Given the description of an element on the screen output the (x, y) to click on. 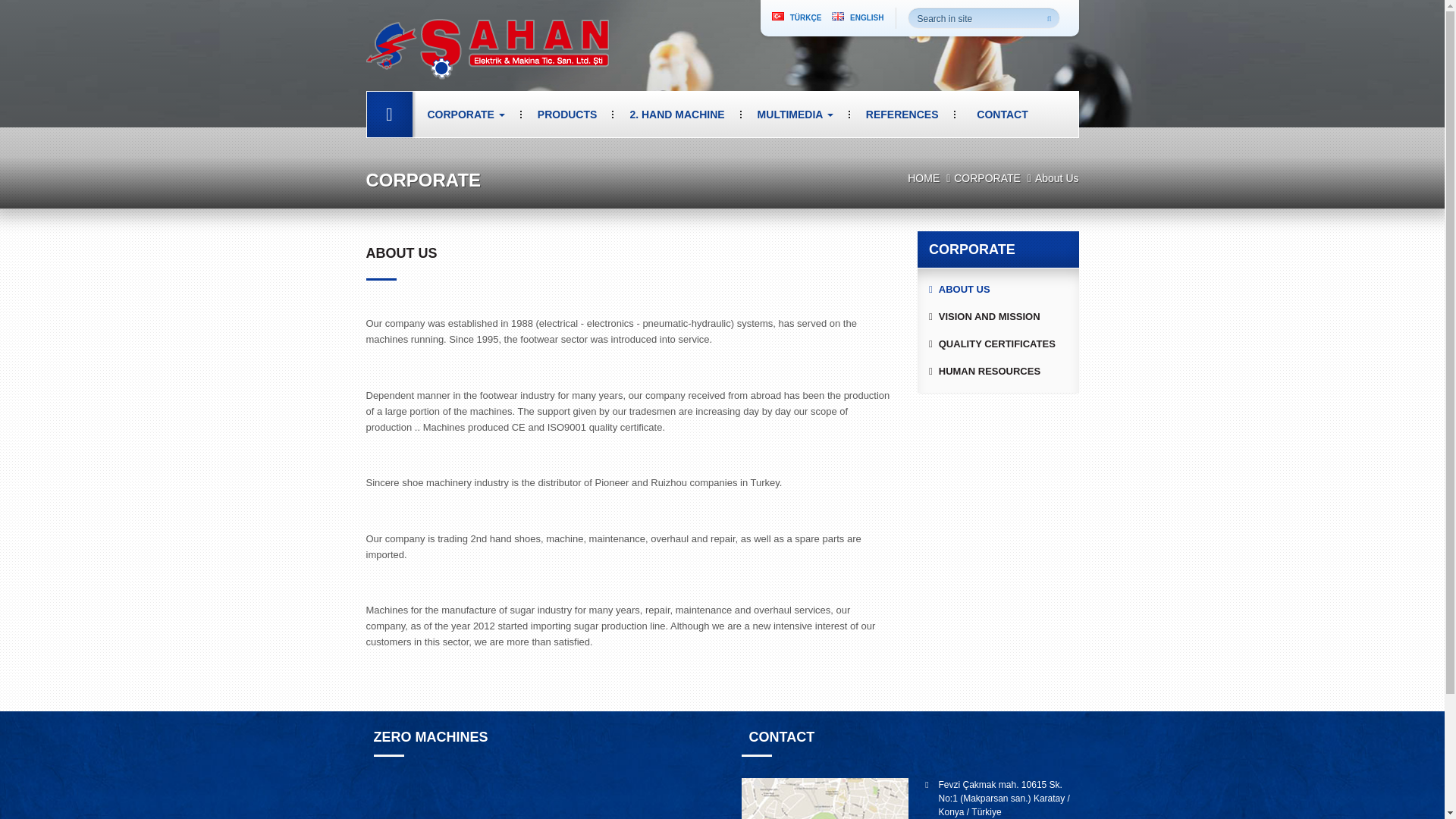
CORPORATE (466, 114)
PRODUCTS (567, 114)
ABOUT US (997, 289)
QUALITY CERTIFICATES (997, 343)
REFERENCES (902, 114)
ENGLISH (857, 17)
MULTIMEDIA (795, 114)
CORPORATE (986, 177)
VISION AND MISSION (997, 316)
2. HAND MACHINE (676, 114)
